Given the description of an element on the screen output the (x, y) to click on. 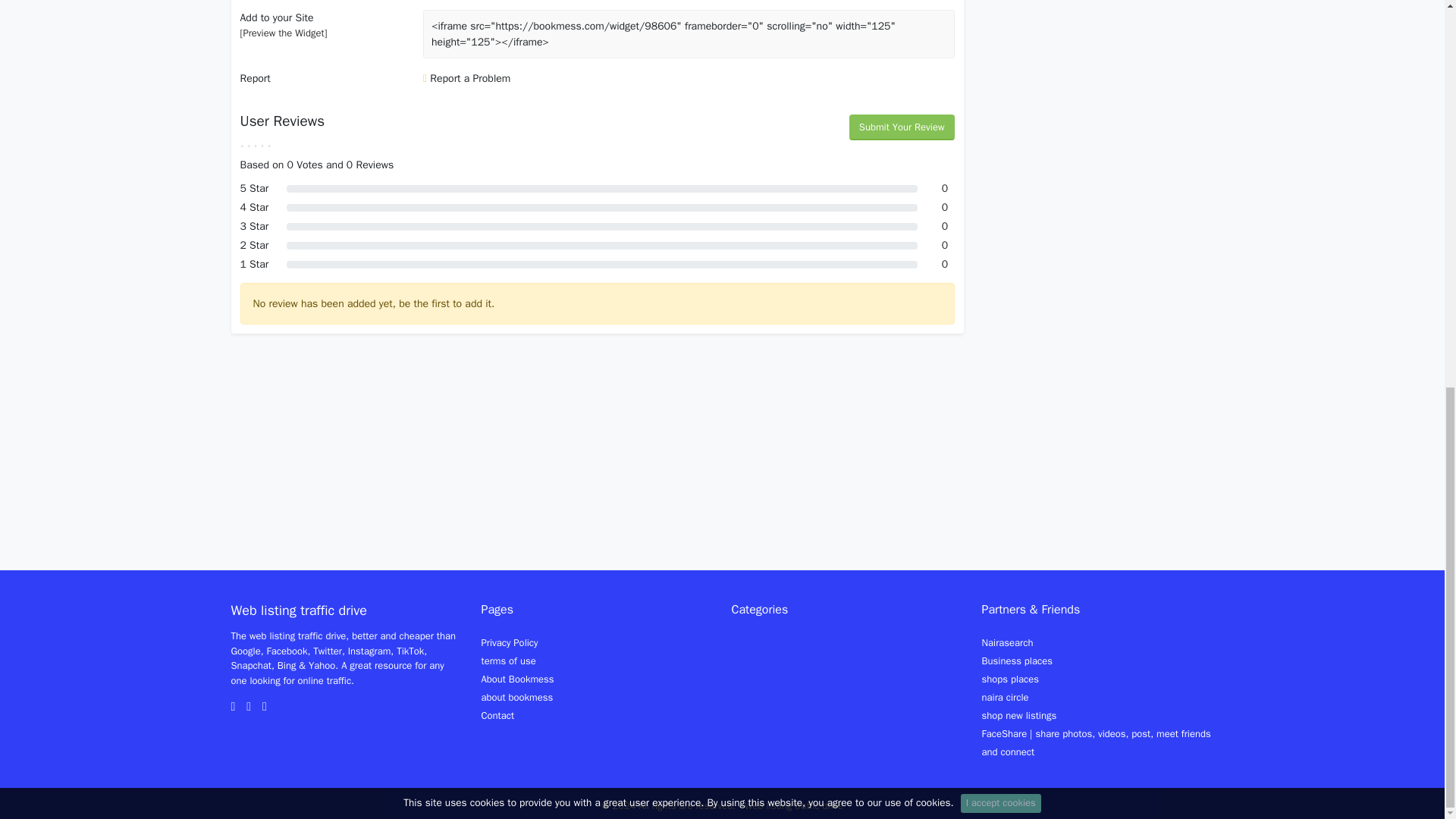
Submit Your Review (901, 127)
Report a Problem (467, 78)
